Given the description of an element on the screen output the (x, y) to click on. 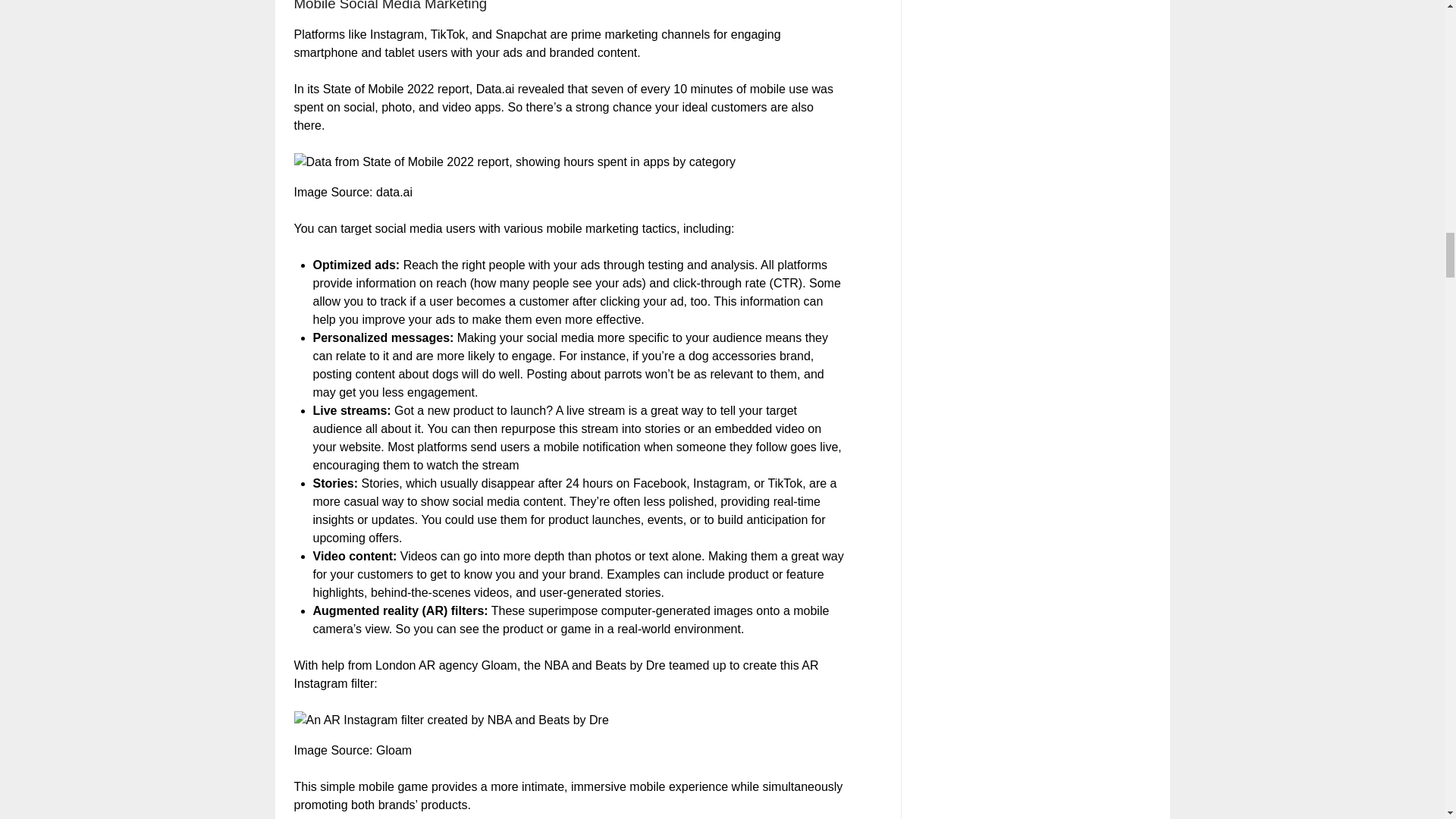
help from London AR agency Gloam (418, 665)
data.ai (393, 192)
State of Mobile 2022 report (395, 88)
